Given the description of an element on the screen output the (x, y) to click on. 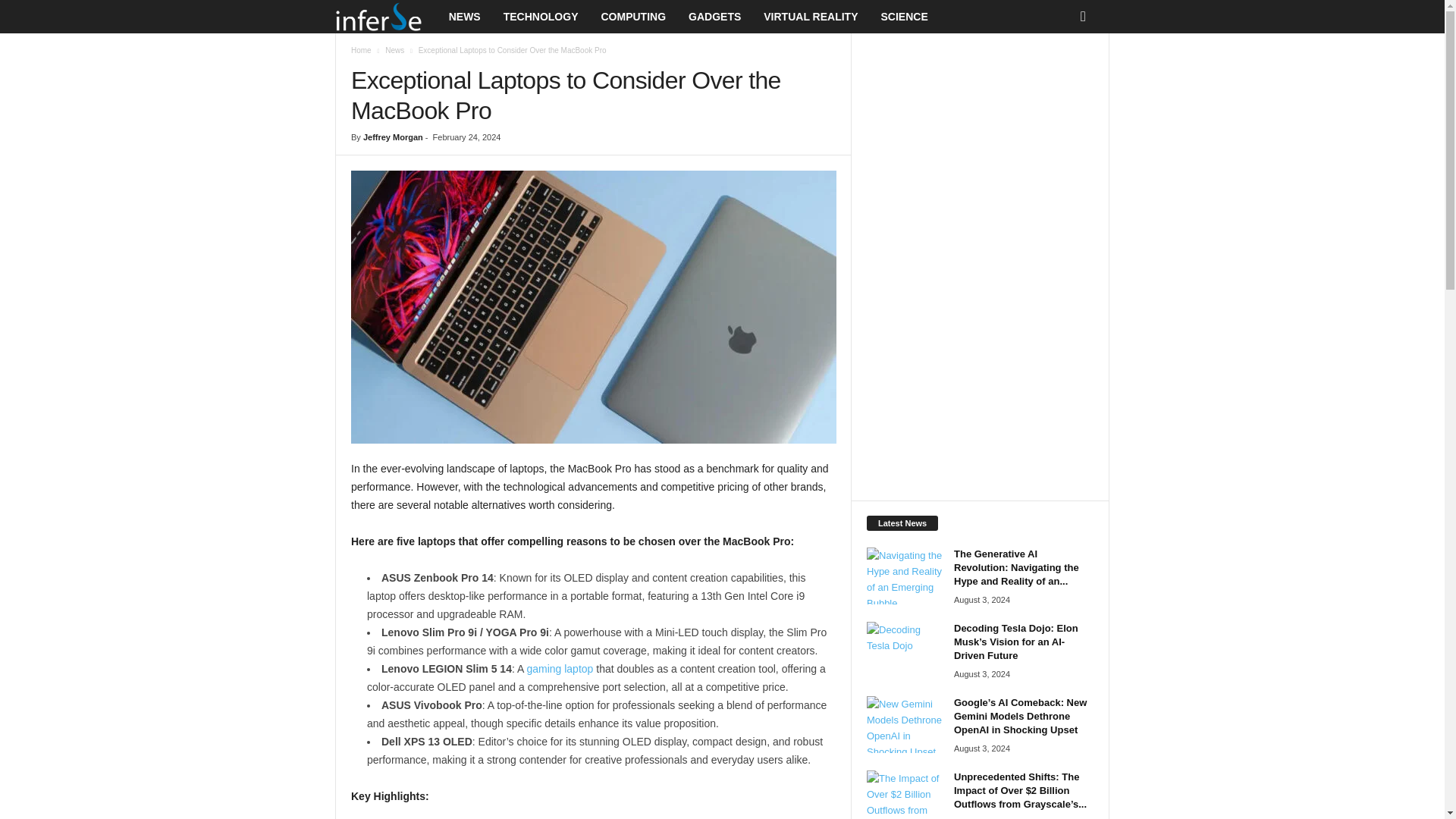
NEWS (465, 16)
News (394, 49)
TECHNOLOGY (540, 16)
COMPUTING (633, 16)
GADGETS (714, 16)
VIRTUAL REALITY (810, 16)
gaming laptop (558, 668)
Home (360, 49)
Inferse.com (386, 17)
5 Exceptional laptops (592, 306)
